Given the description of an element on the screen output the (x, y) to click on. 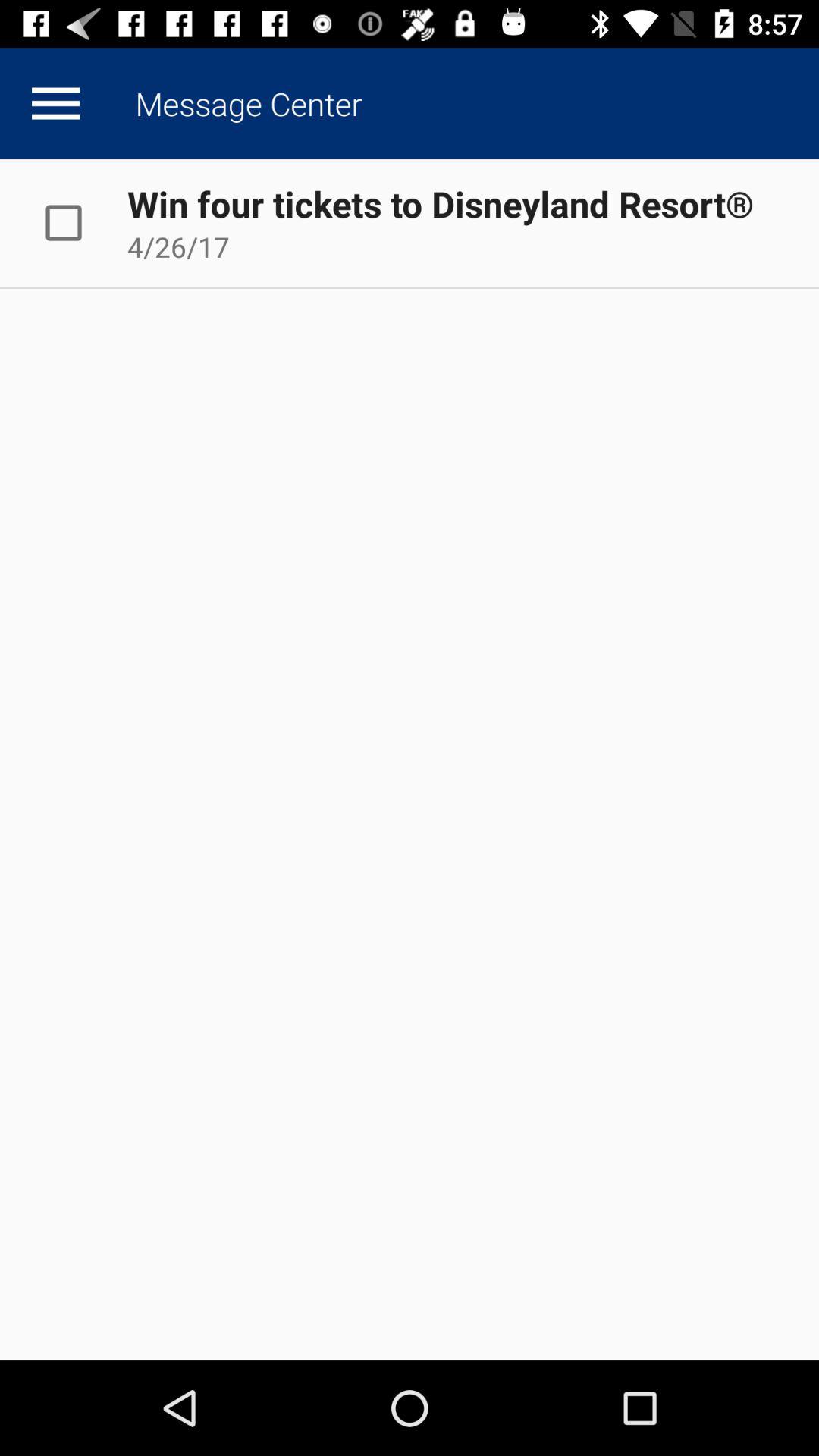
open up menu (55, 103)
